Given the description of an element on the screen output the (x, y) to click on. 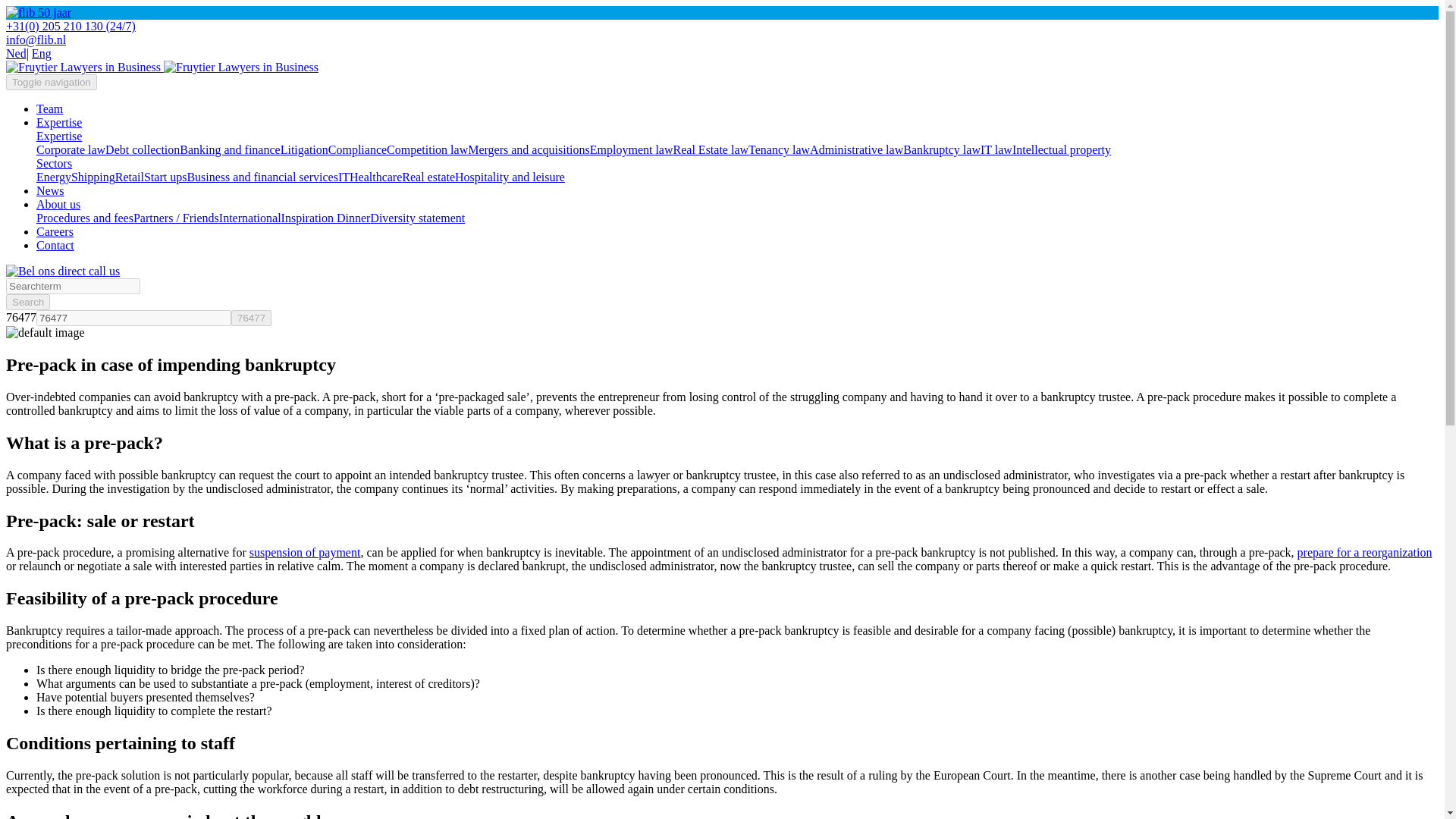
Start ups (165, 176)
Shipping (93, 176)
Healthcare (375, 176)
76477 (250, 317)
Tenancy law (778, 149)
Intellectual property (1060, 149)
International (250, 217)
About us (58, 204)
Eng (41, 52)
Search (27, 302)
